Given the description of an element on the screen output the (x, y) to click on. 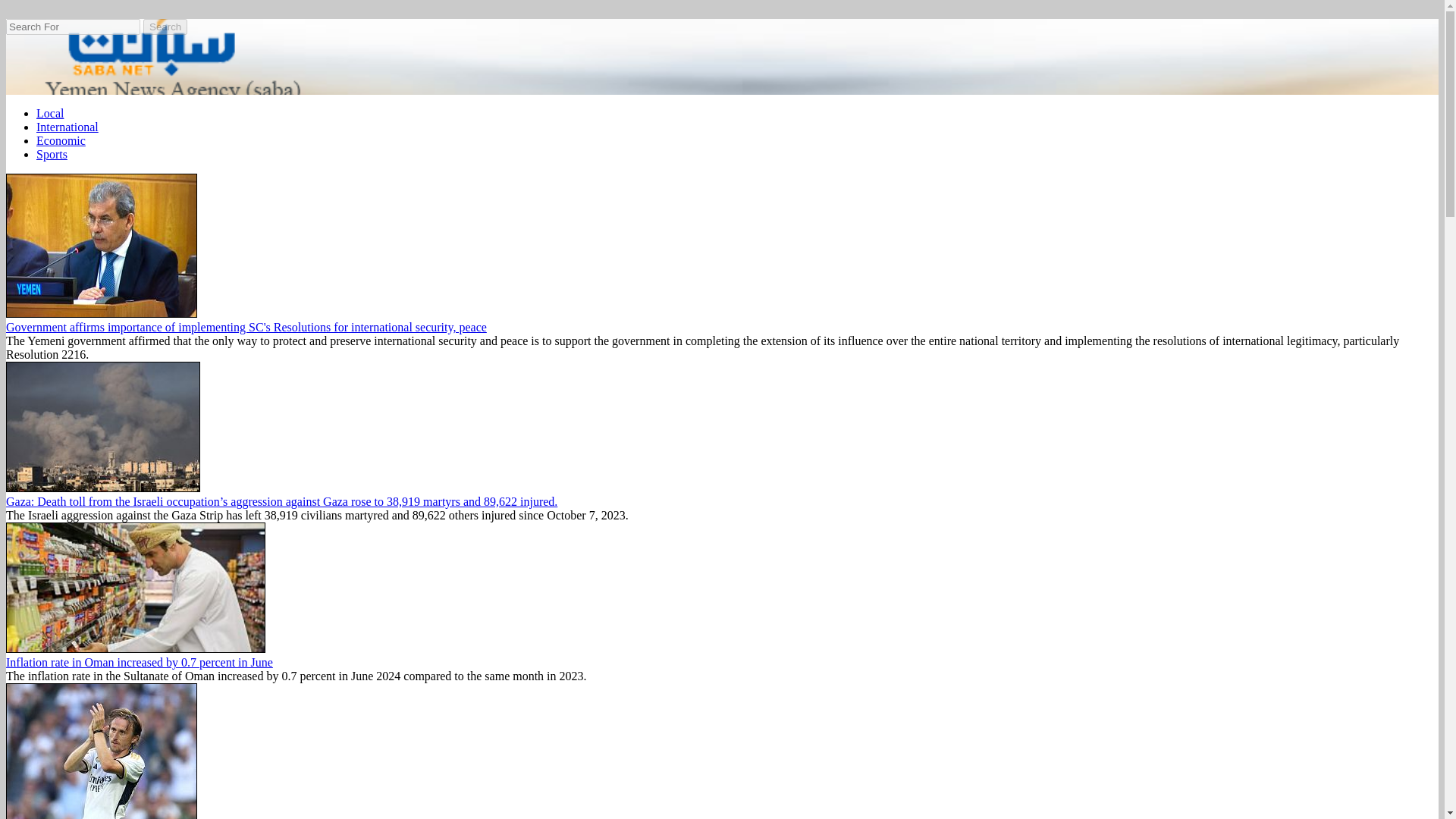
Economic (60, 140)
Inflation rate in Oman increased by 0.7 percent in June (139, 662)
Search (164, 26)
Sports (51, 154)
International (67, 126)
Local (50, 113)
